Given the description of an element on the screen output the (x, y) to click on. 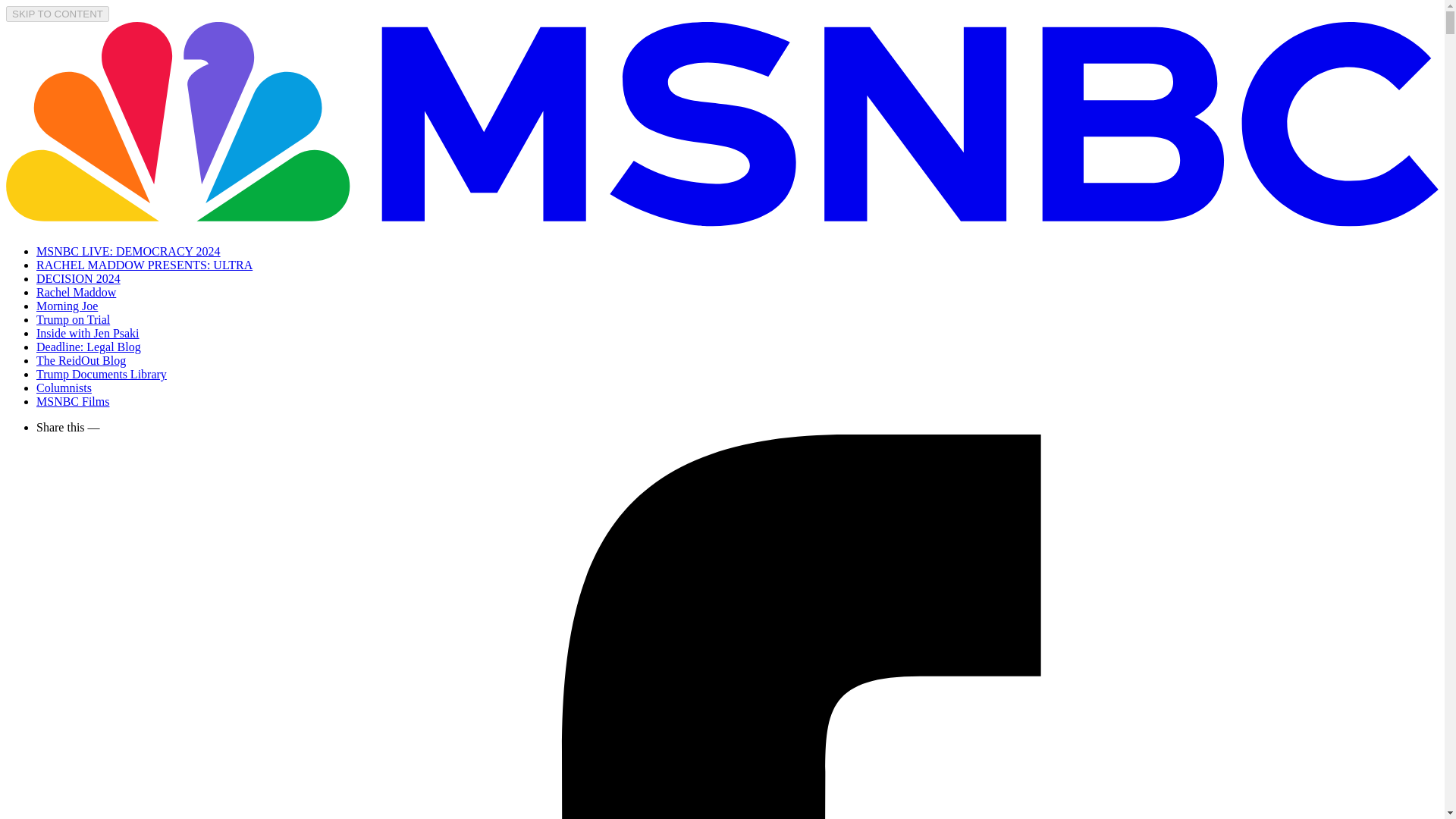
Morning Joe (66, 305)
SKIP TO CONTENT (57, 13)
RACHEL MADDOW PRESENTS: ULTRA (143, 264)
Trump on Trial (73, 318)
DECISION 2024 (78, 278)
Inside with Jen Psaki (87, 332)
The ReidOut Blog (80, 359)
MSNBC Films (72, 400)
Deadline: Legal Blog (88, 346)
MSNBC LIVE: DEMOCRACY 2024 (128, 250)
